Given the description of an element on the screen output the (x, y) to click on. 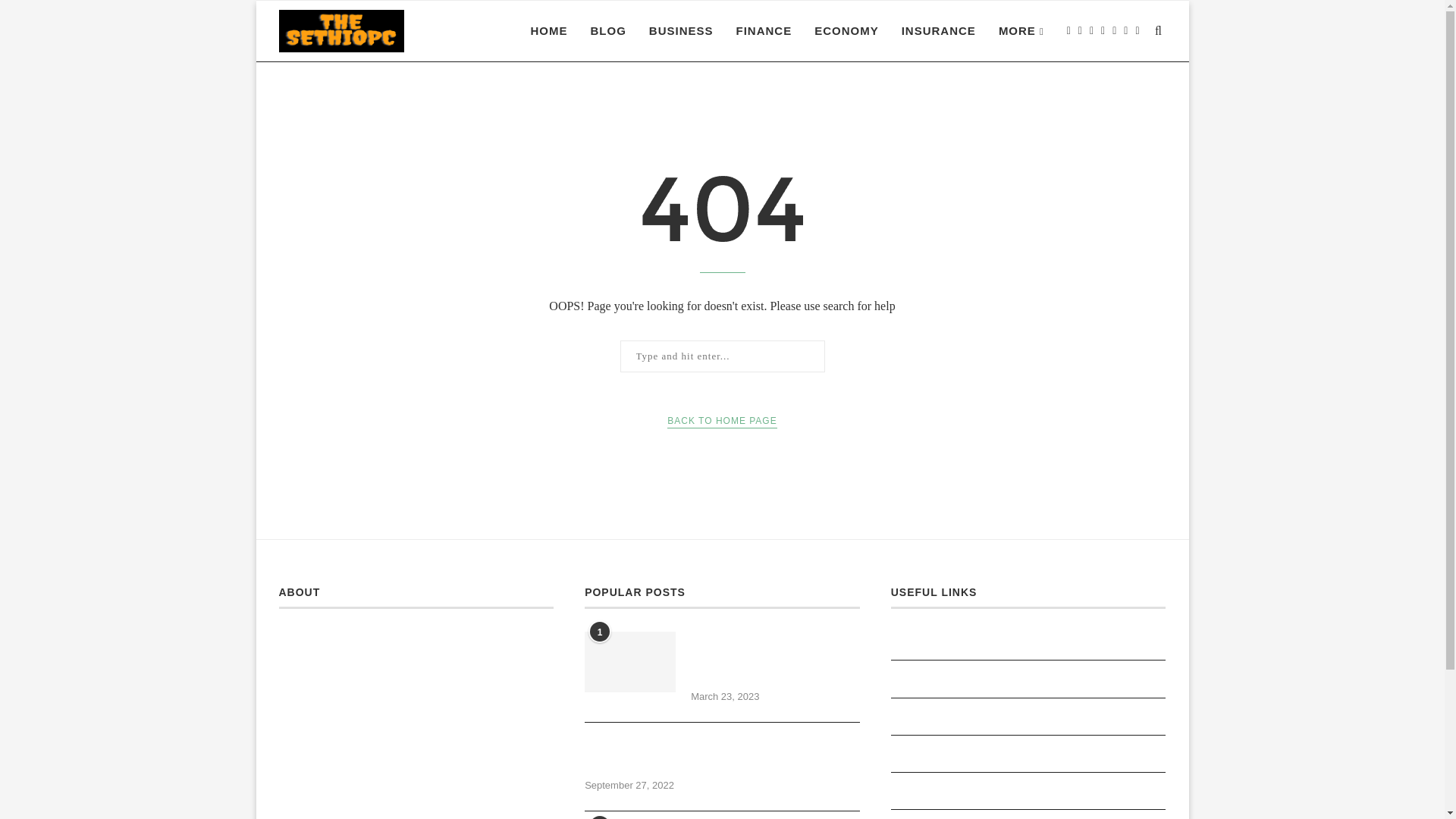
Breaking Down Timeshare Costs: Is Ownership Worth It? (630, 661)
BUSINESS (681, 30)
ECONOMY (846, 30)
Watch Tooturnttony Onlyfans Leaked Video And Photos (722, 754)
INSURANCE (938, 30)
FINANCE (763, 30)
